Given the description of an element on the screen output the (x, y) to click on. 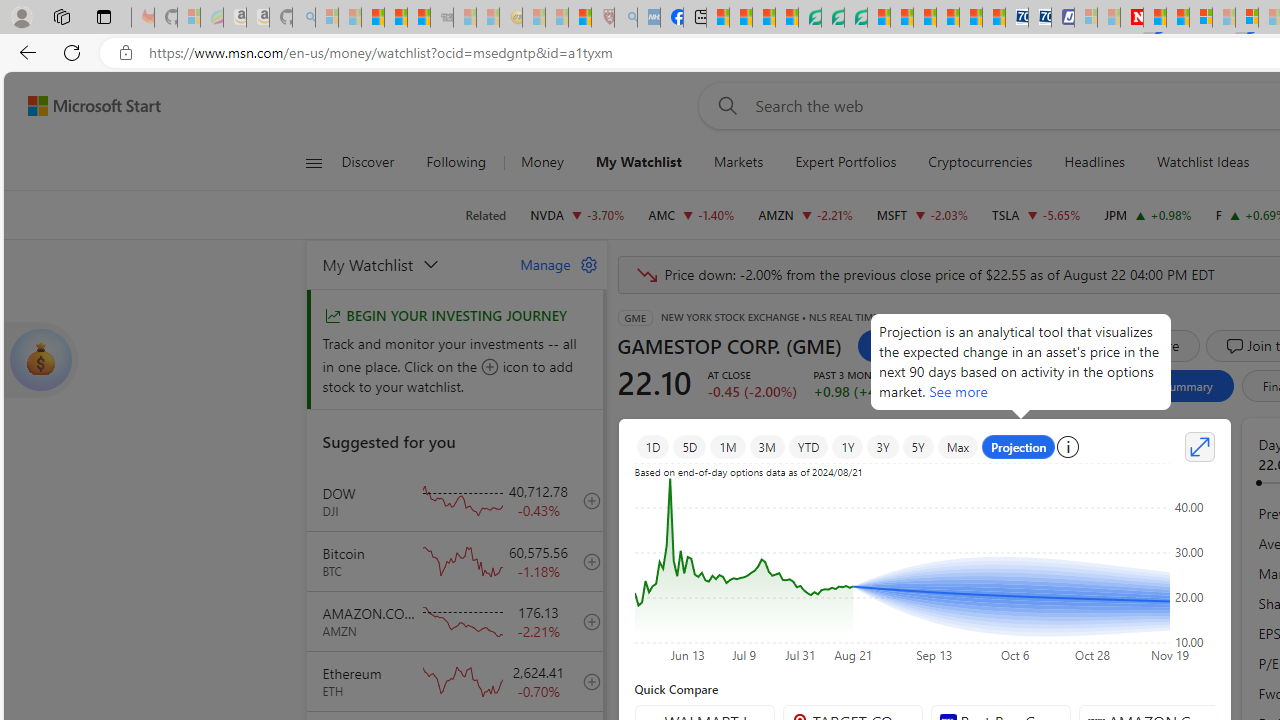
Microsoft account | Privacy - Sleeping (1085, 17)
Discover (367, 162)
Cheap Hotels - Save70.com (1039, 17)
Watchlist Ideas (1202, 162)
Headlines (1094, 162)
Summary (1186, 385)
My Watchlist (637, 162)
Web search (724, 105)
